Given the description of an element on the screen output the (x, y) to click on. 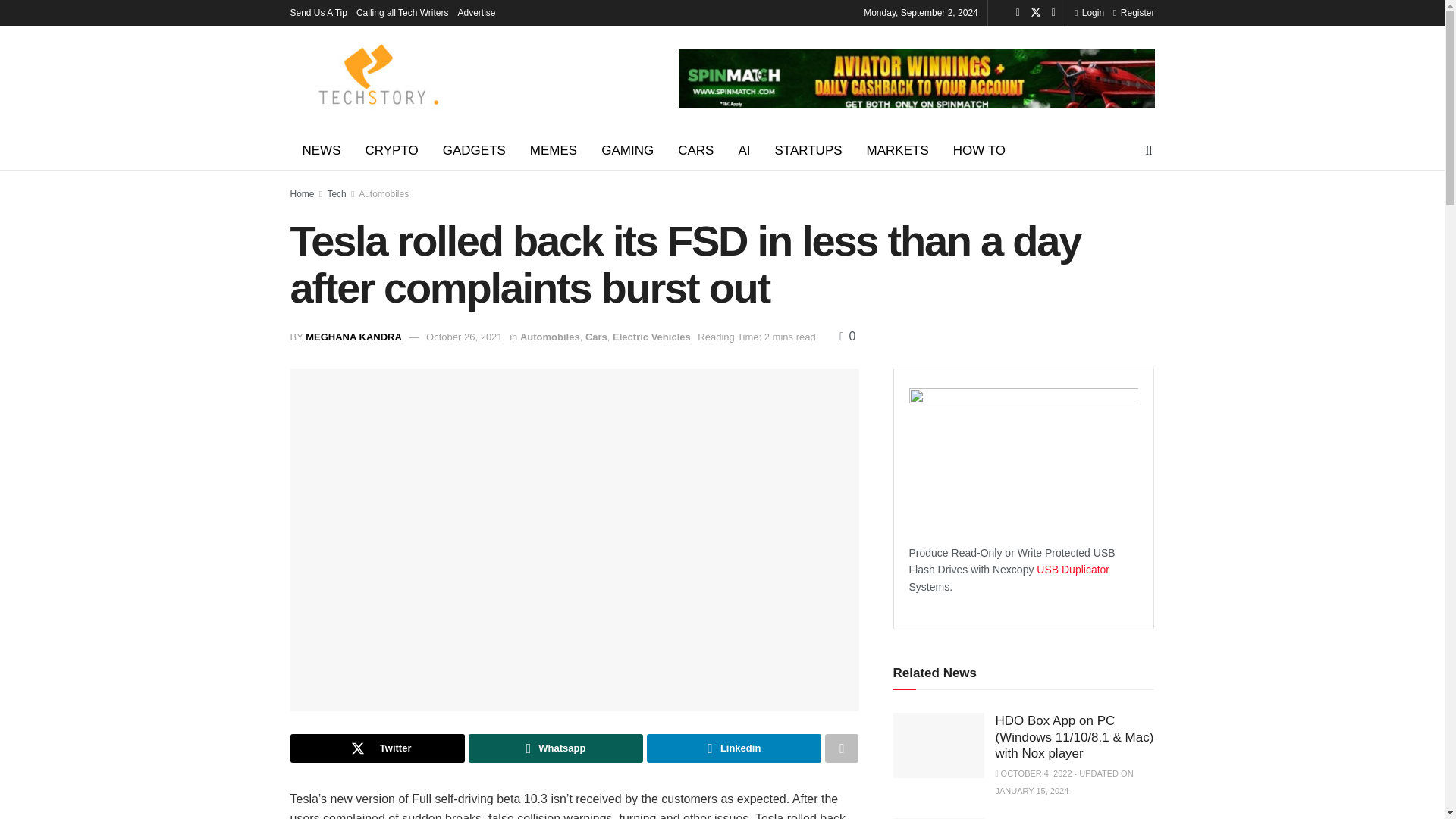
MARKETS (897, 150)
Register (1133, 12)
Calling all Tech Writers (402, 12)
GADGETS (474, 150)
Send Us A Tip (317, 12)
HOW TO (978, 150)
MEMES (553, 150)
CRYPTO (391, 150)
NEWS (320, 150)
CARS (695, 150)
